Given the description of an element on the screen output the (x, y) to click on. 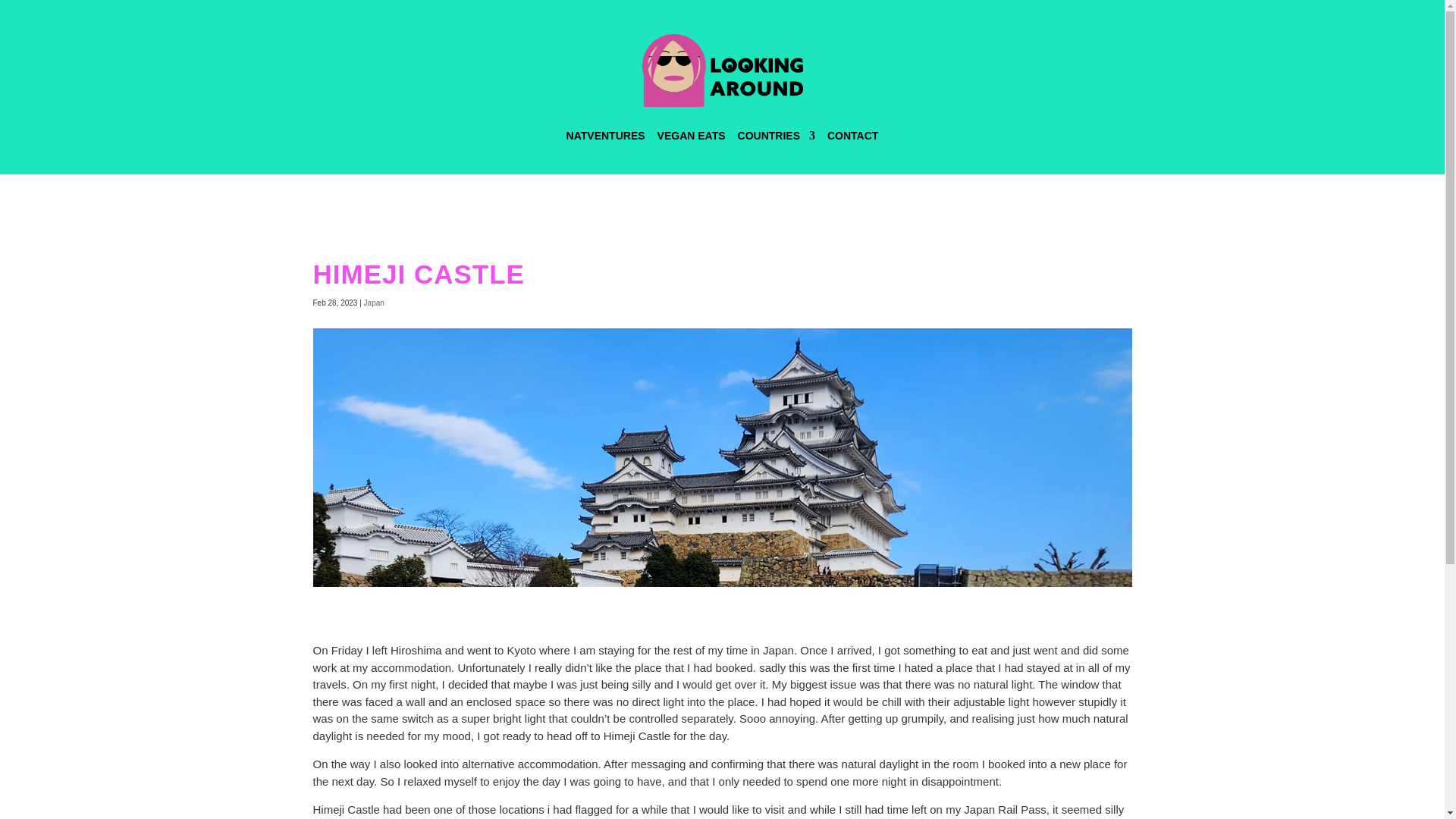
NATVENTURES (605, 135)
COUNTRIES (776, 135)
Japan (374, 302)
VEGAN EATS (691, 135)
